Given the description of an element on the screen output the (x, y) to click on. 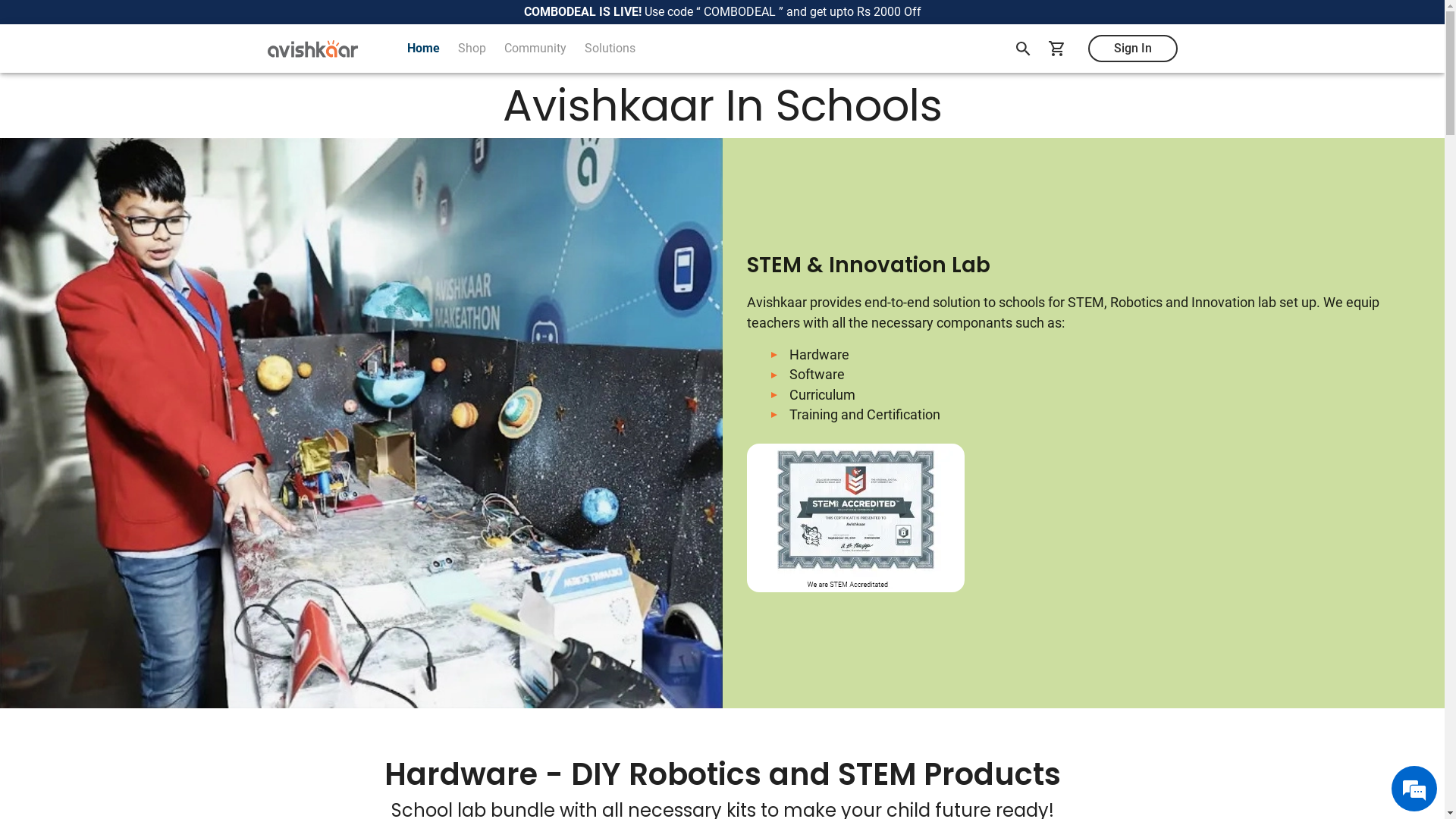
Avishkaar Element type: hover (311, 47)
Home Element type: text (422, 48)
Shop Element type: text (472, 48)
Solutions Element type: text (608, 48)
Community Element type: text (534, 48)
